Given the description of an element on the screen output the (x, y) to click on. 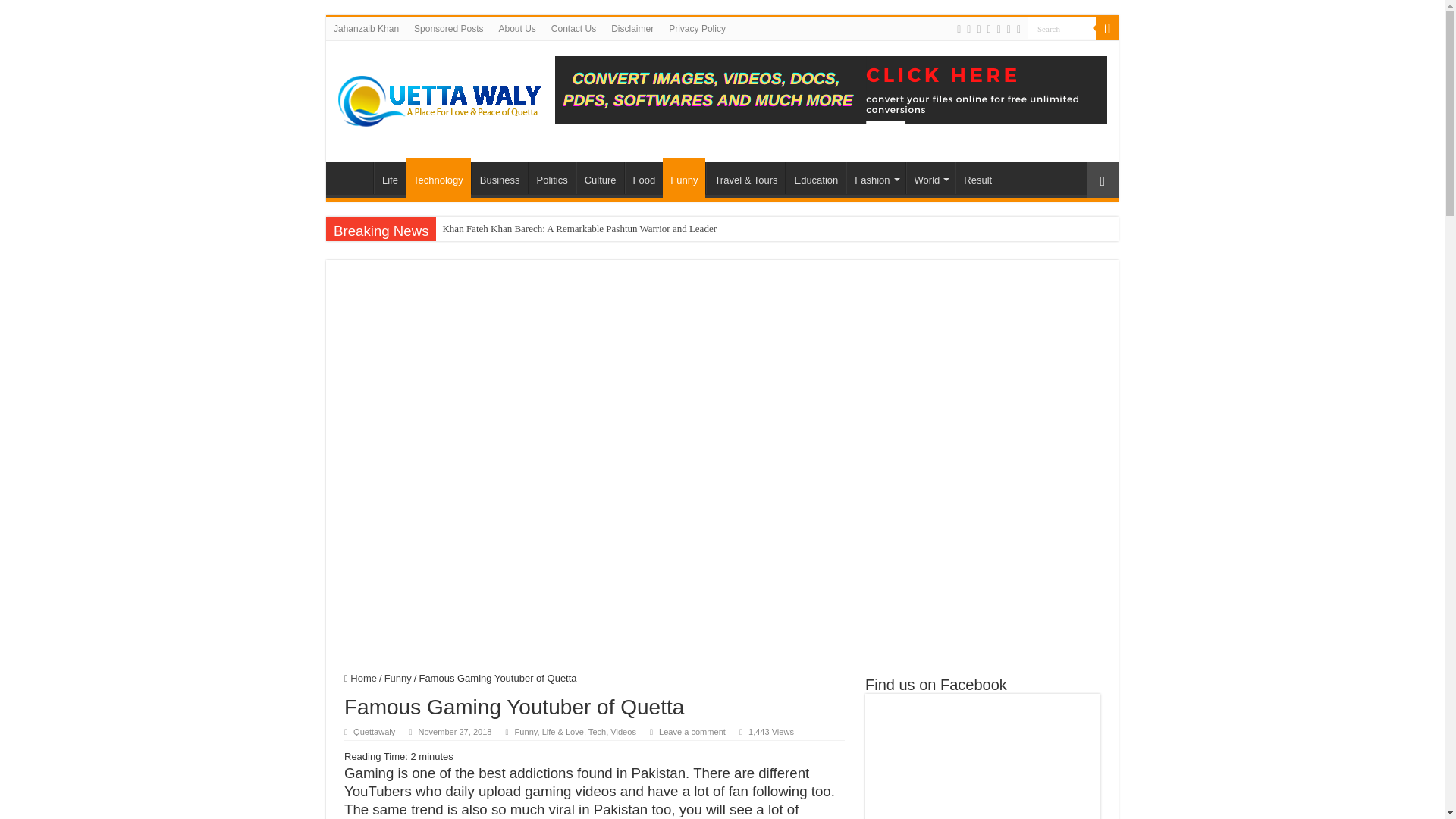
Technology (438, 178)
Fashion (874, 178)
Privacy Policy (697, 28)
Search (1061, 28)
About Us (516, 28)
Politics (551, 178)
Education (815, 178)
Search (1061, 28)
Life (390, 178)
Culture (600, 178)
